Given the description of an element on the screen output the (x, y) to click on. 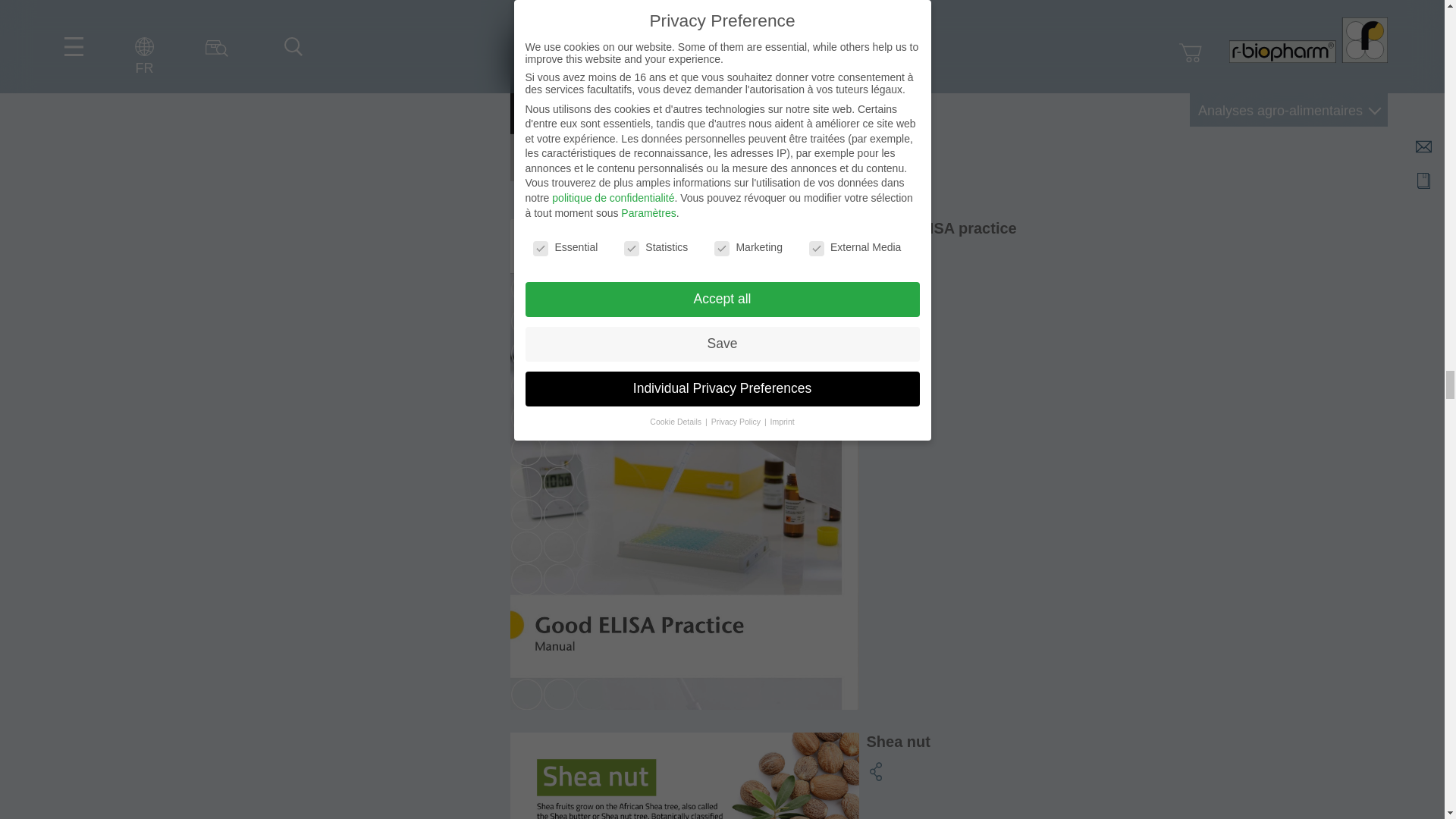
1 (631, 117)
